Given the description of an element on the screen output the (x, y) to click on. 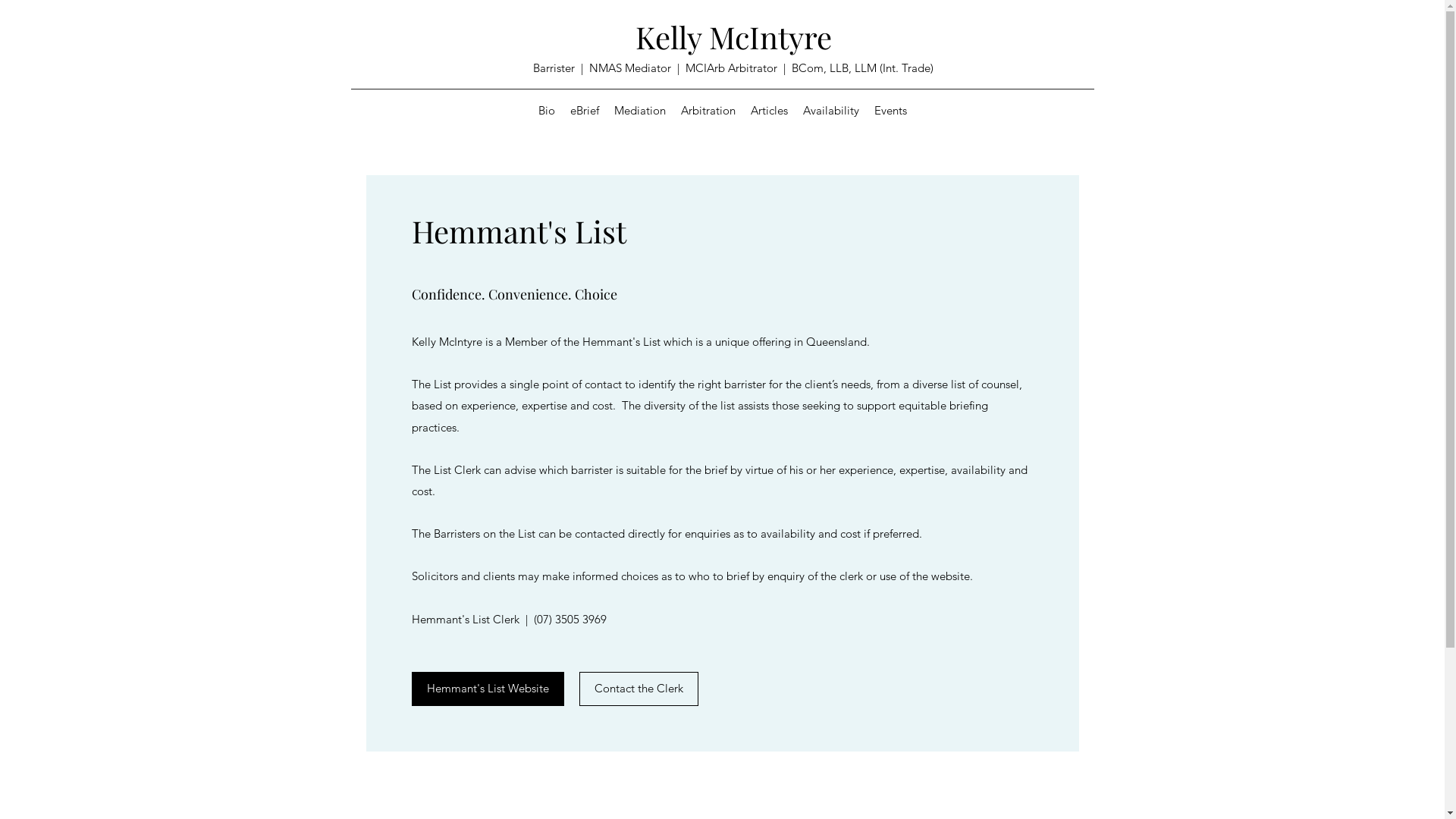
Bio Element type: text (546, 110)
Arbitration Element type: text (708, 110)
Contact the Clerk Element type: text (638, 688)
Mediation Element type: text (639, 110)
Events Element type: text (889, 110)
Hemmant's List Website Element type: text (487, 688)
Availability Element type: text (830, 110)
Articles Element type: text (769, 110)
eBrief Element type: text (584, 110)
Kelly McIntyre Element type: text (733, 36)
